Given the description of an element on the screen output the (x, y) to click on. 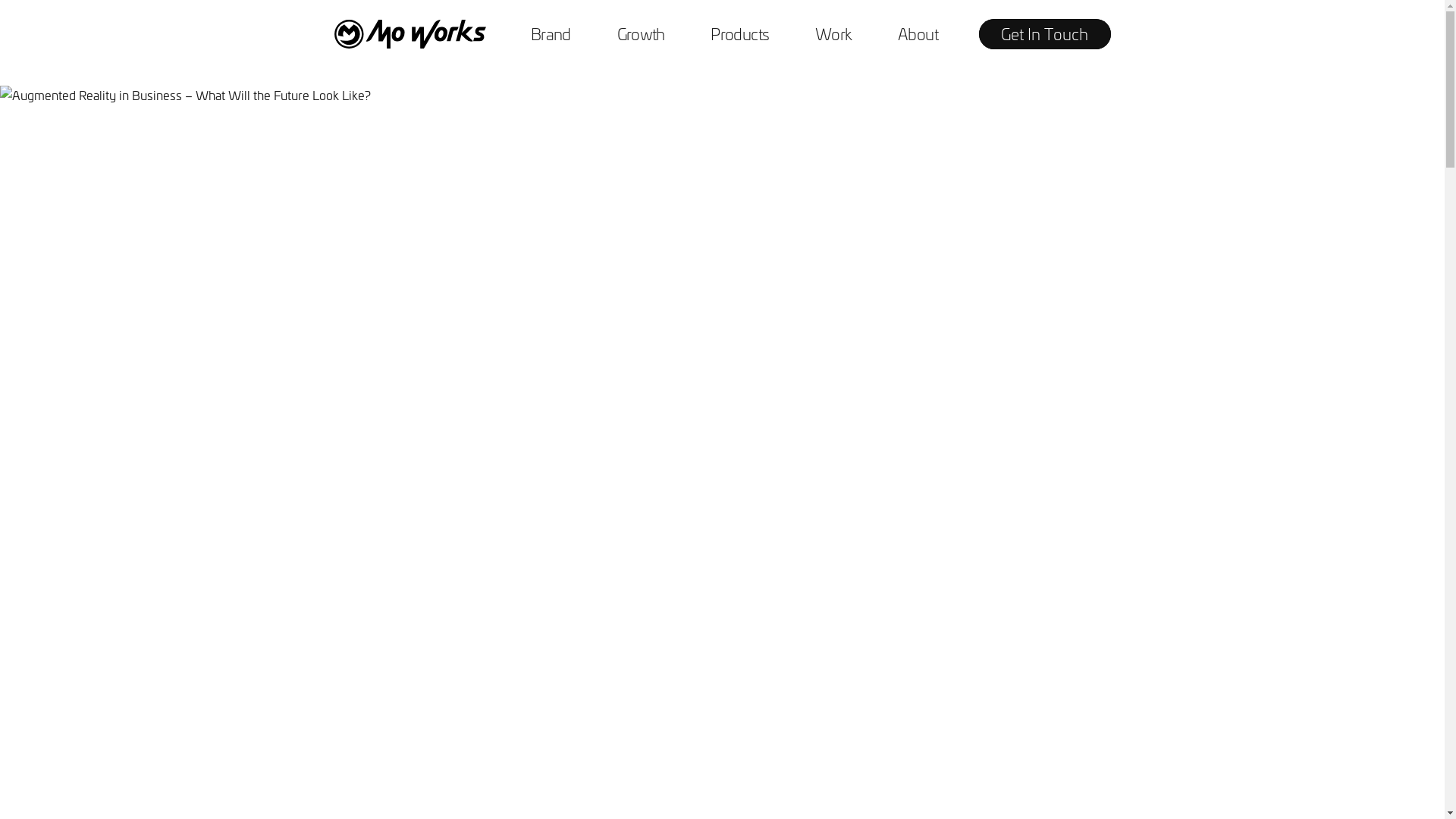
Get In Touch Element type: text (1044, 33)
